Given the description of an element on the screen output the (x, y) to click on. 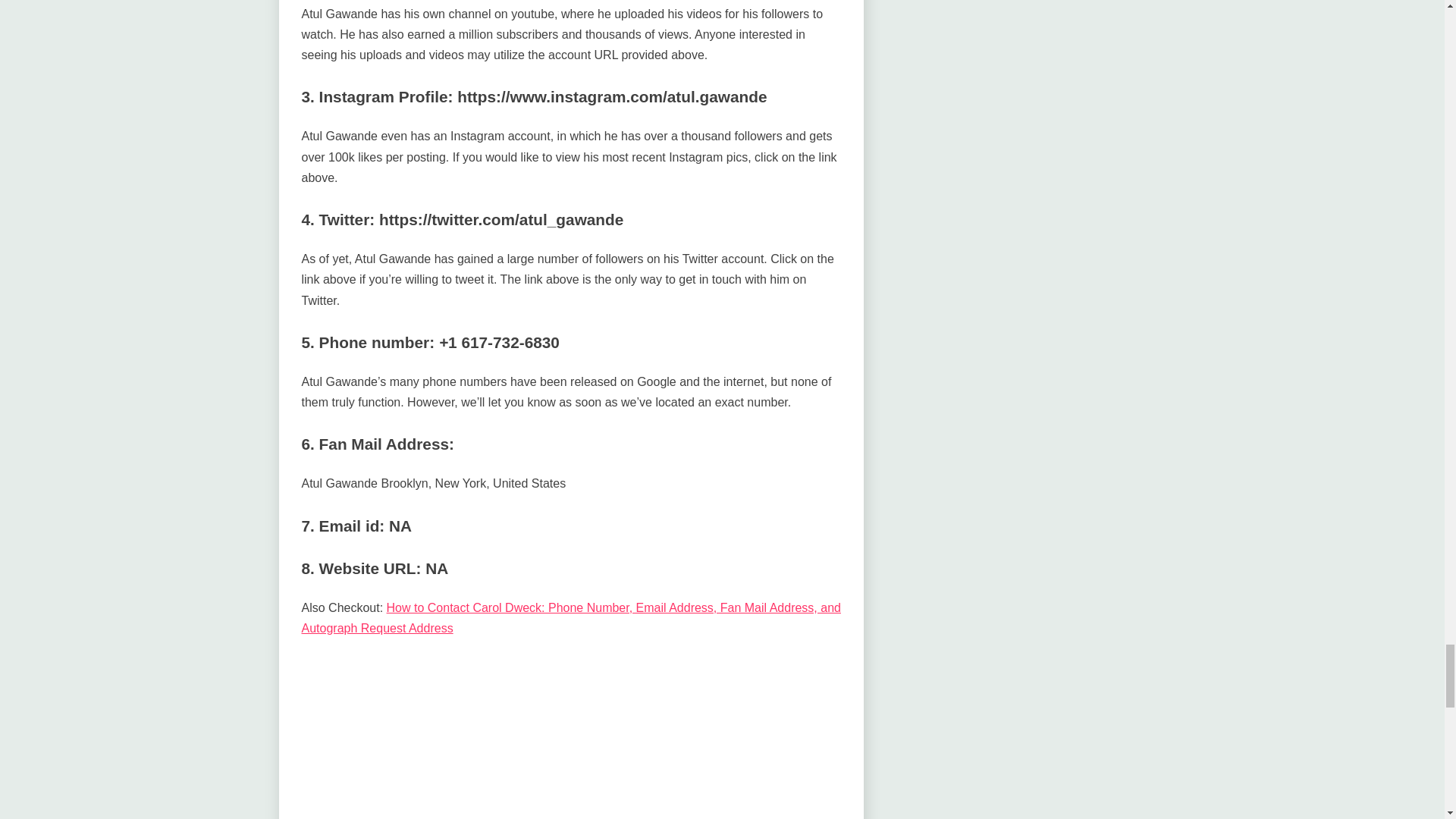
YouTube video player (570, 737)
